Given the description of an element on the screen output the (x, y) to click on. 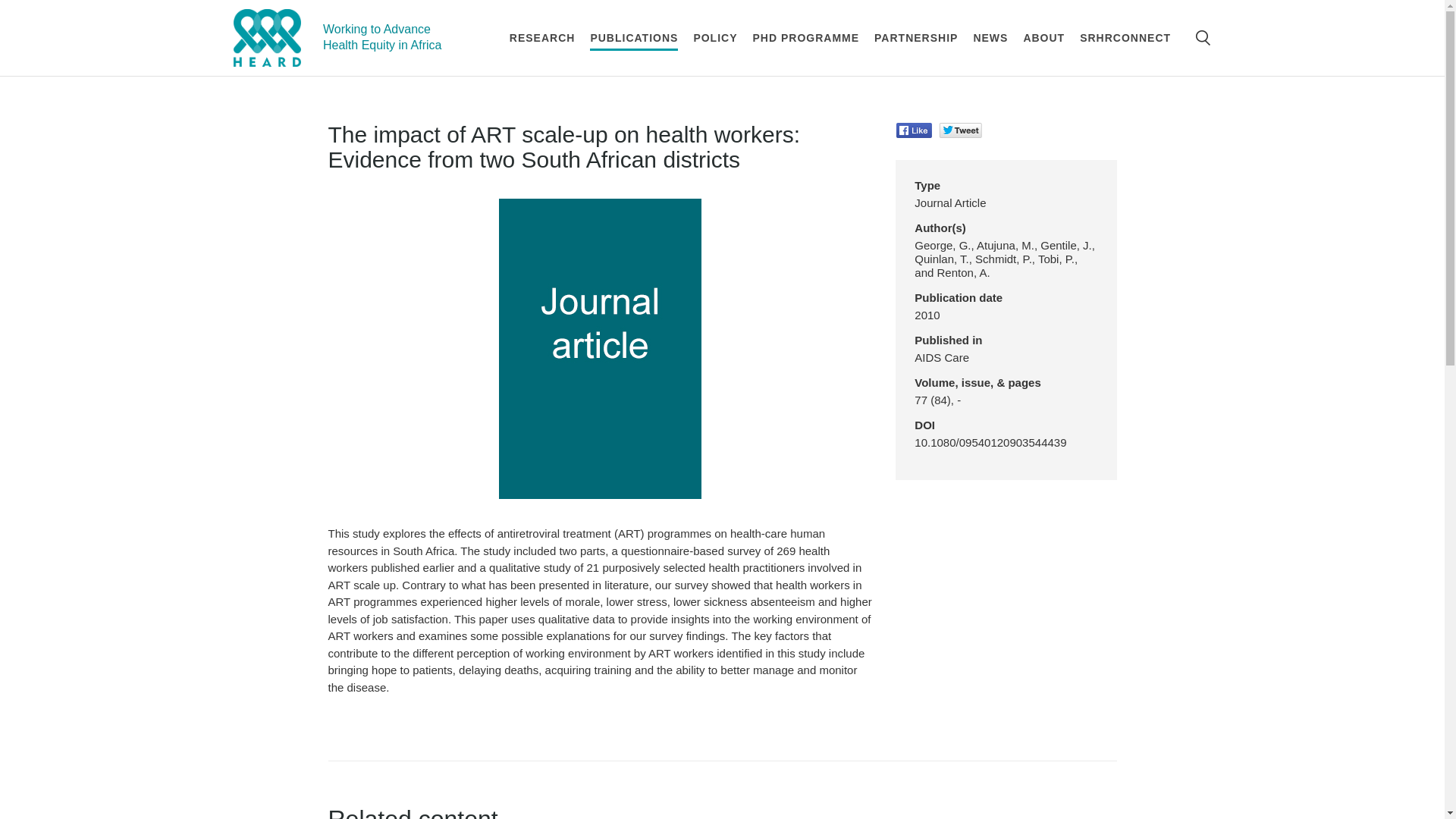
SRHRCONNECT (1125, 37)
PUBLICATIONS (633, 37)
NEWS (989, 37)
PARTNERSHIP (916, 37)
RESEARCH (542, 37)
POLICY (714, 37)
ABOUT (1043, 37)
PHD PROGRAMME (805, 37)
